Given the description of an element on the screen output the (x, y) to click on. 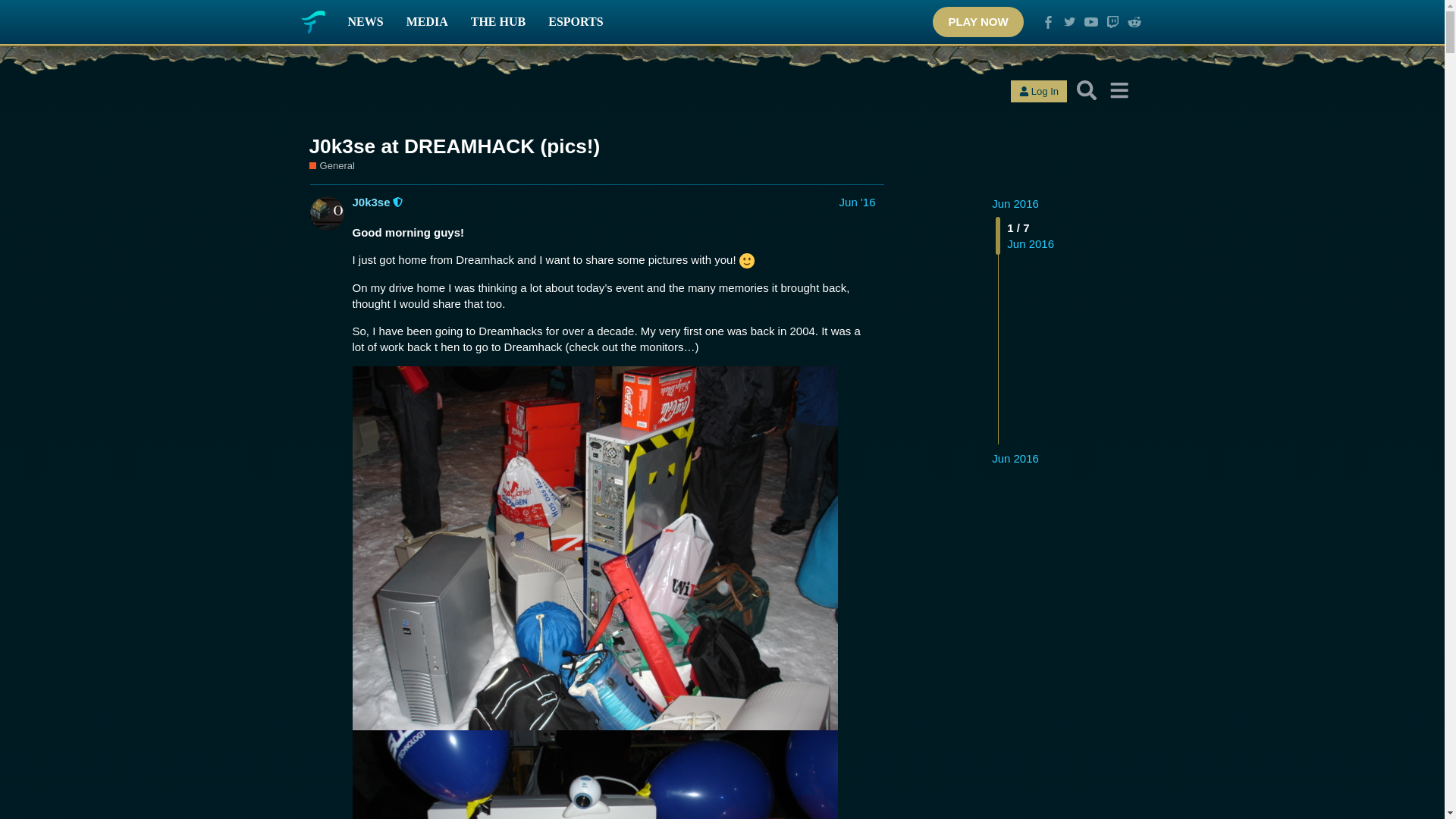
ESPORTS (575, 22)
This user is a moderator (398, 202)
PLAY NOW (978, 21)
NEWS (365, 22)
Jun 2016 (1015, 458)
Jun 2016 (1015, 203)
THE HUB (498, 22)
J0k3se (371, 201)
Post date (858, 201)
Search (1086, 90)
Jun 2016 (1015, 203)
Log In (1038, 91)
MEDIA (427, 22)
Jun 2016 (1015, 458)
